Given the description of an element on the screen output the (x, y) to click on. 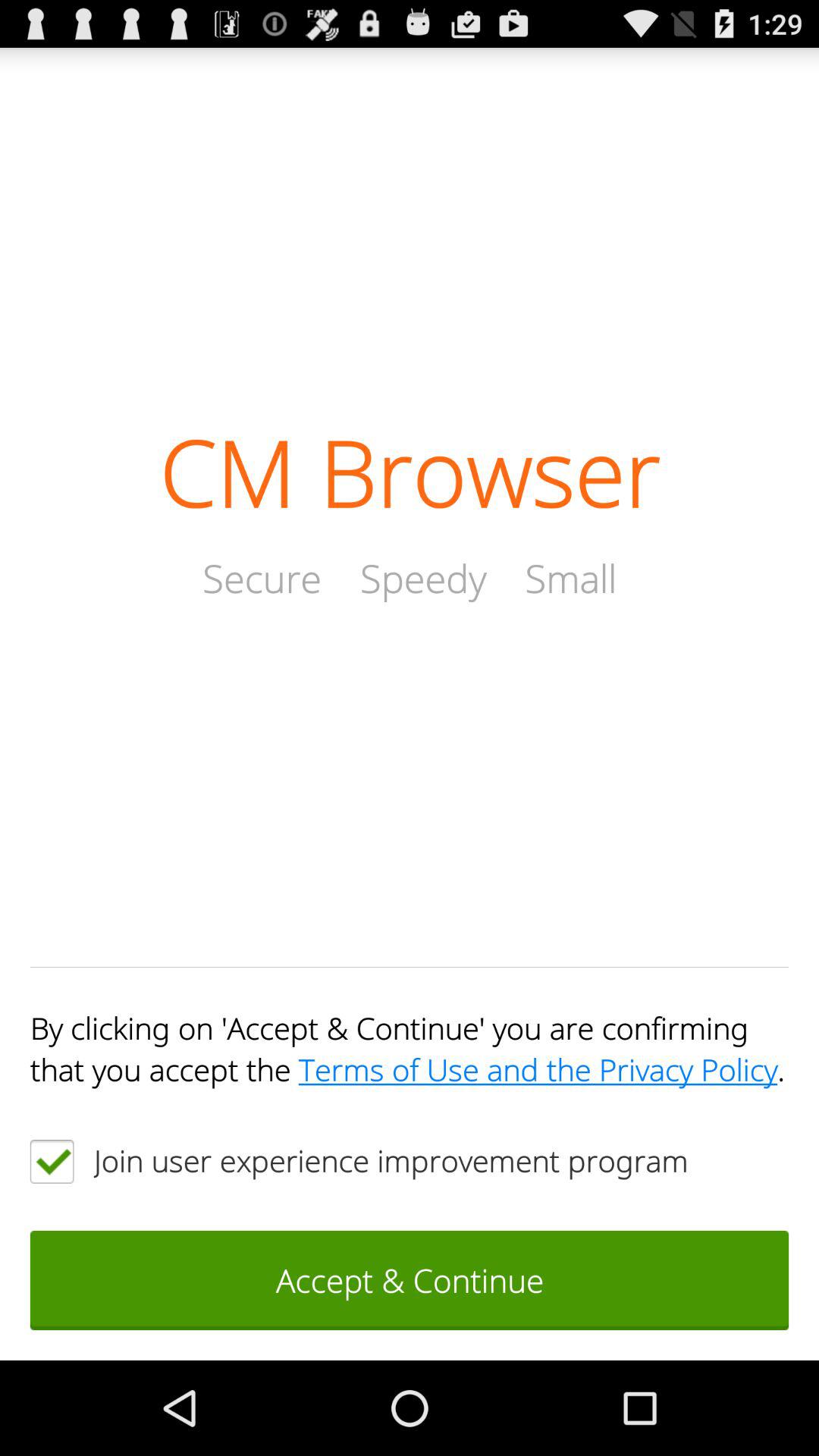
swipe until by clicking on item (409, 1048)
